Given the description of an element on the screen output the (x, y) to click on. 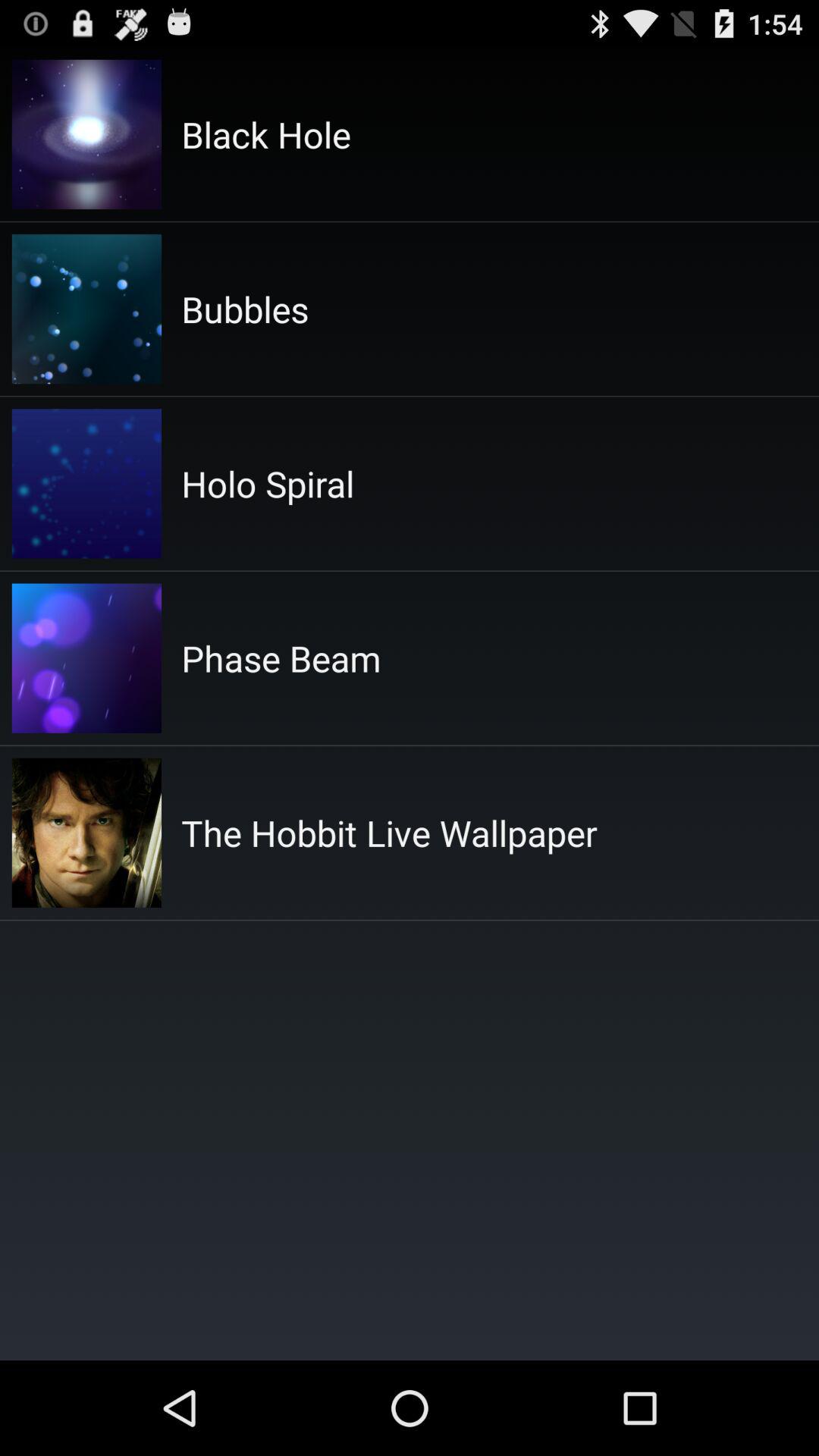
press icon below the black hole (244, 308)
